Given the description of an element on the screen output the (x, y) to click on. 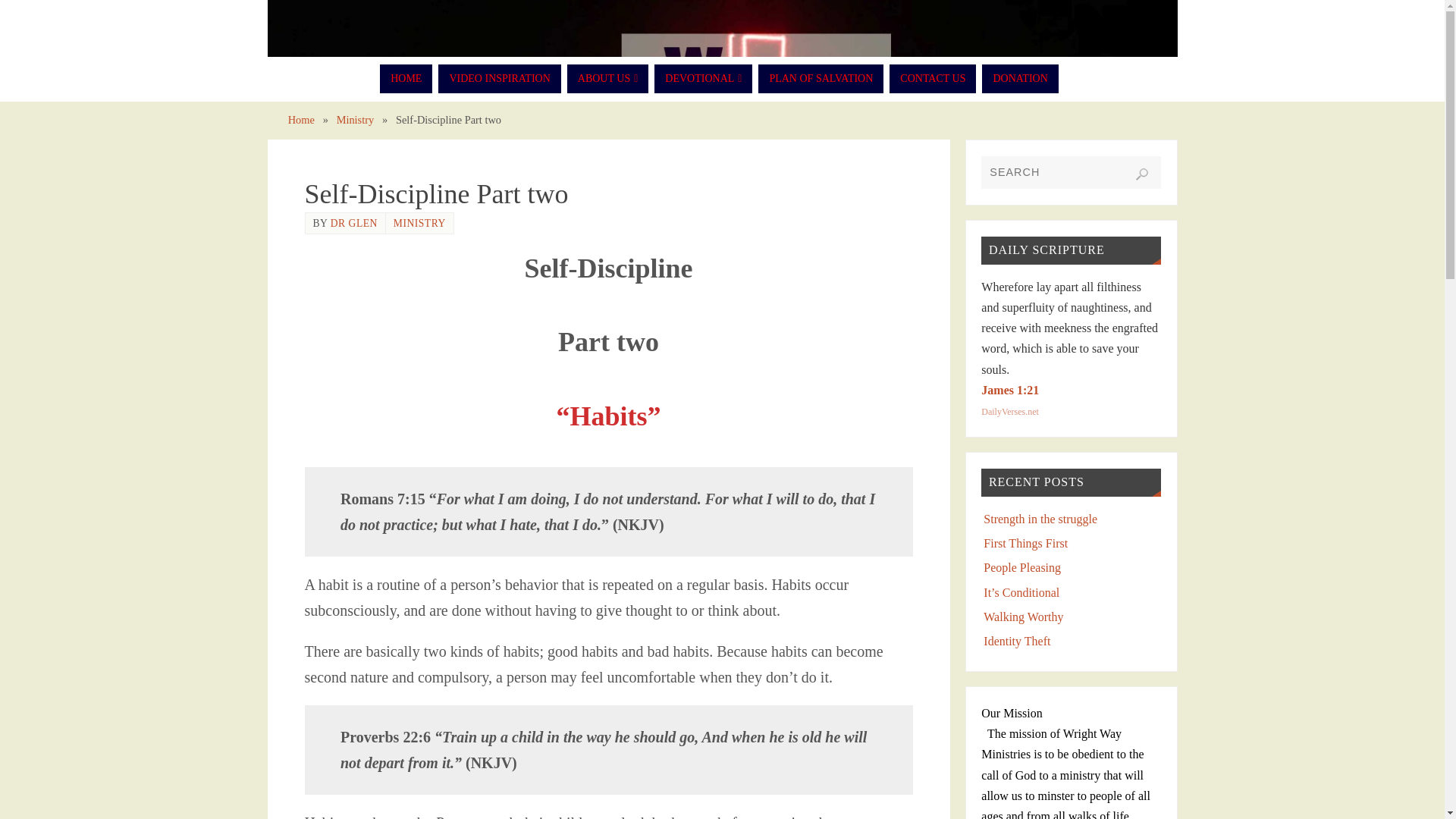
CONTACT US (932, 78)
James 1:21 (1010, 390)
DEVOTIONAL (702, 78)
Strength in the struggle (1040, 518)
MINISTRY (419, 223)
DONATION (1019, 78)
DailyVerses.net (1010, 411)
First Things First (1025, 543)
ABOUT US (608, 78)
Ministry (355, 119)
PLAN OF SALVATION (820, 78)
DR GLEN (353, 223)
HOME (406, 78)
VIDEO INSPIRATION (499, 78)
